Given the description of an element on the screen output the (x, y) to click on. 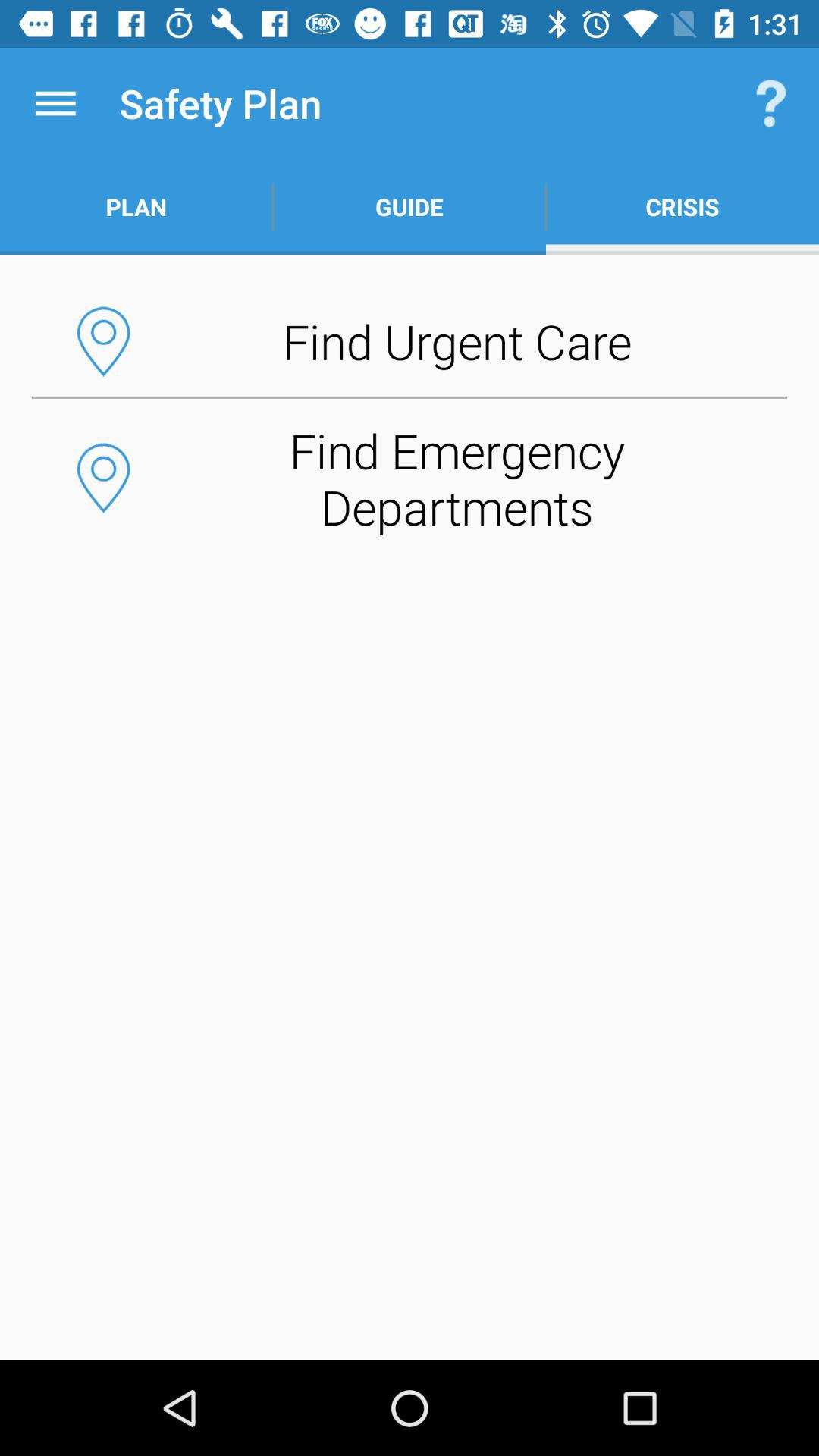
click the item above the crisis item (771, 103)
